Given the description of an element on the screen output the (x, y) to click on. 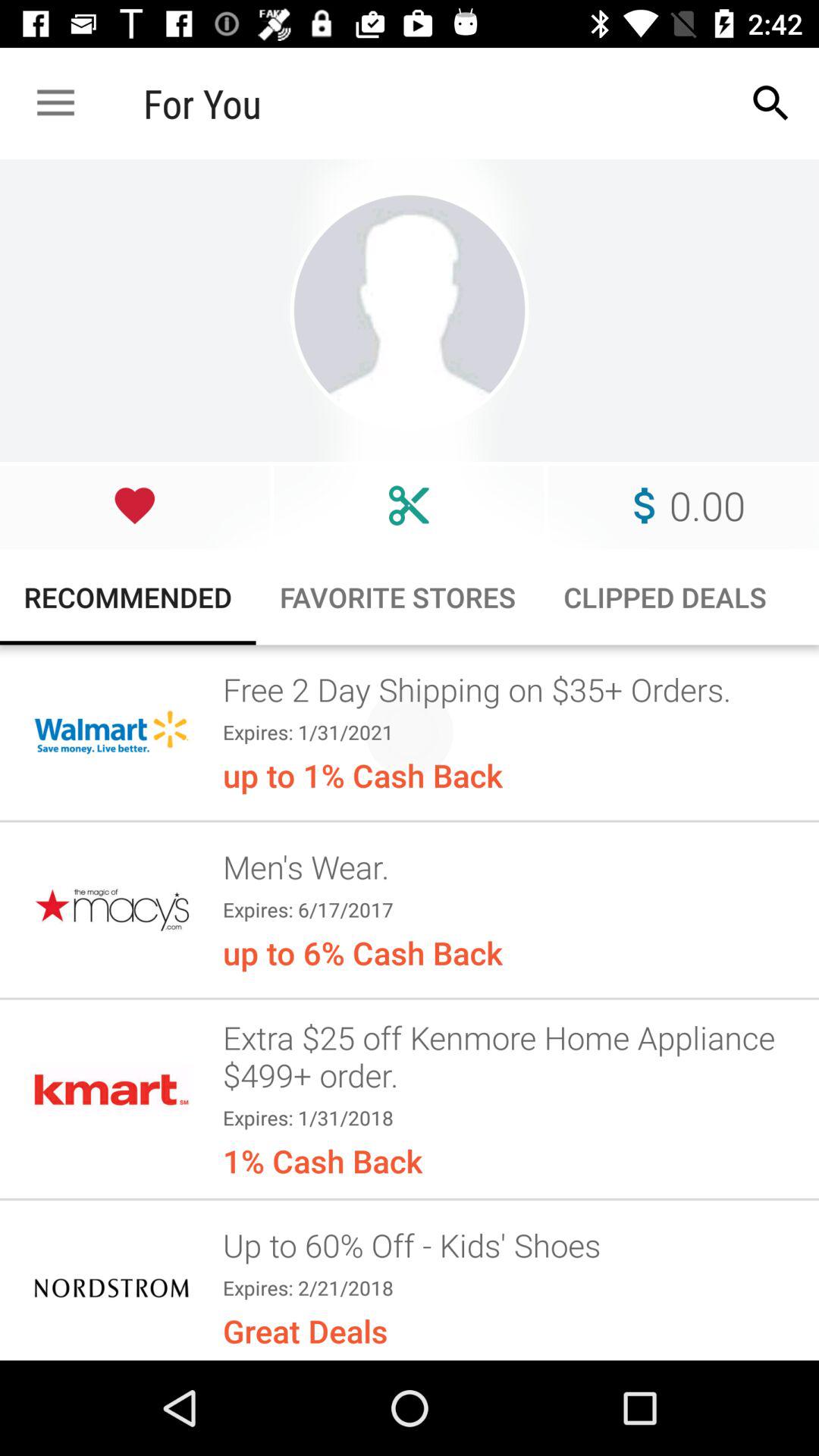
open the item to the left of for you (55, 103)
